Given the description of an element on the screen output the (x, y) to click on. 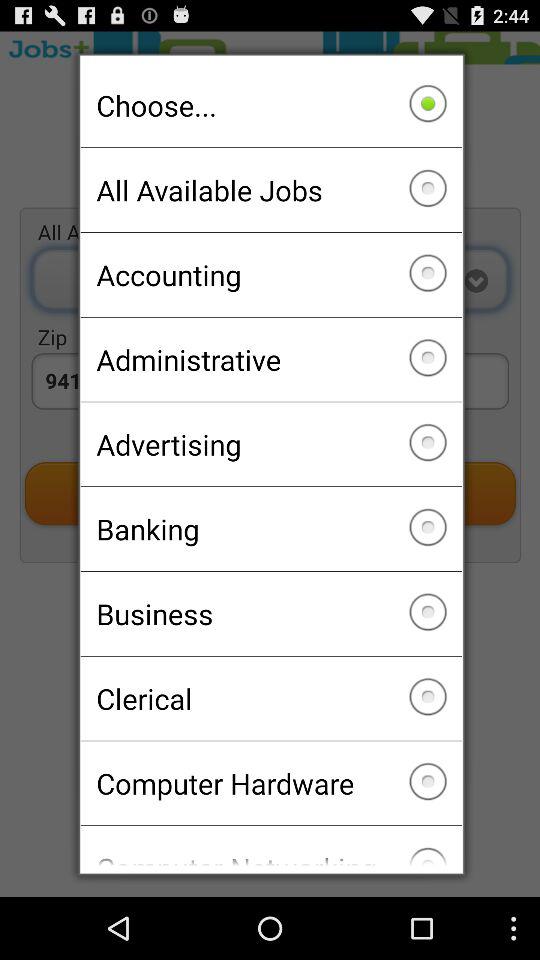
turn on the icon below the all available jobs checkbox (270, 274)
